Given the description of an element on the screen output the (x, y) to click on. 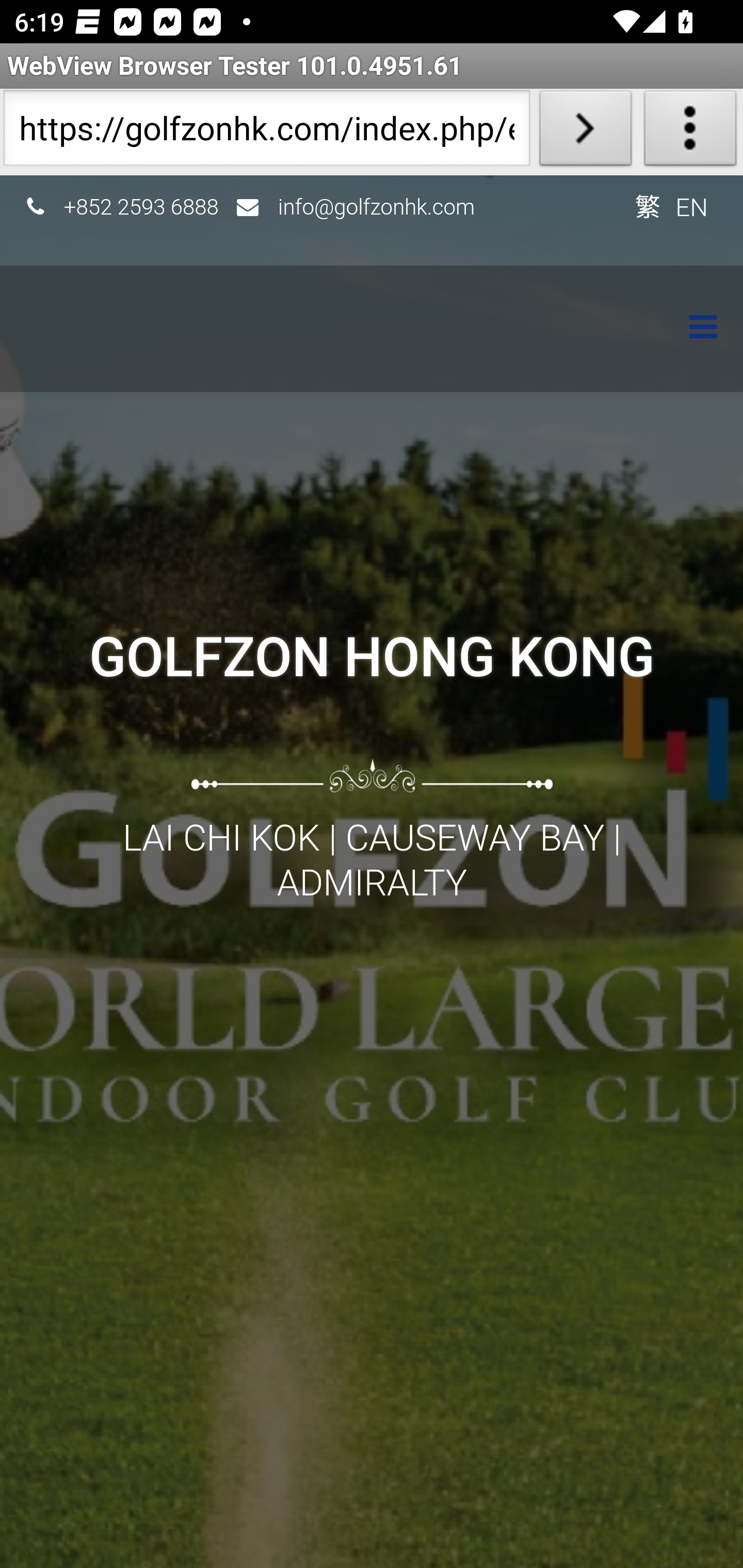
Load URL (585, 132)
About WebView (690, 132)
info@golfzonhk.com (377, 205)
繁 (647, 205)
EN (692, 205)
 (693, 328)
